Given the description of an element on the screen output the (x, y) to click on. 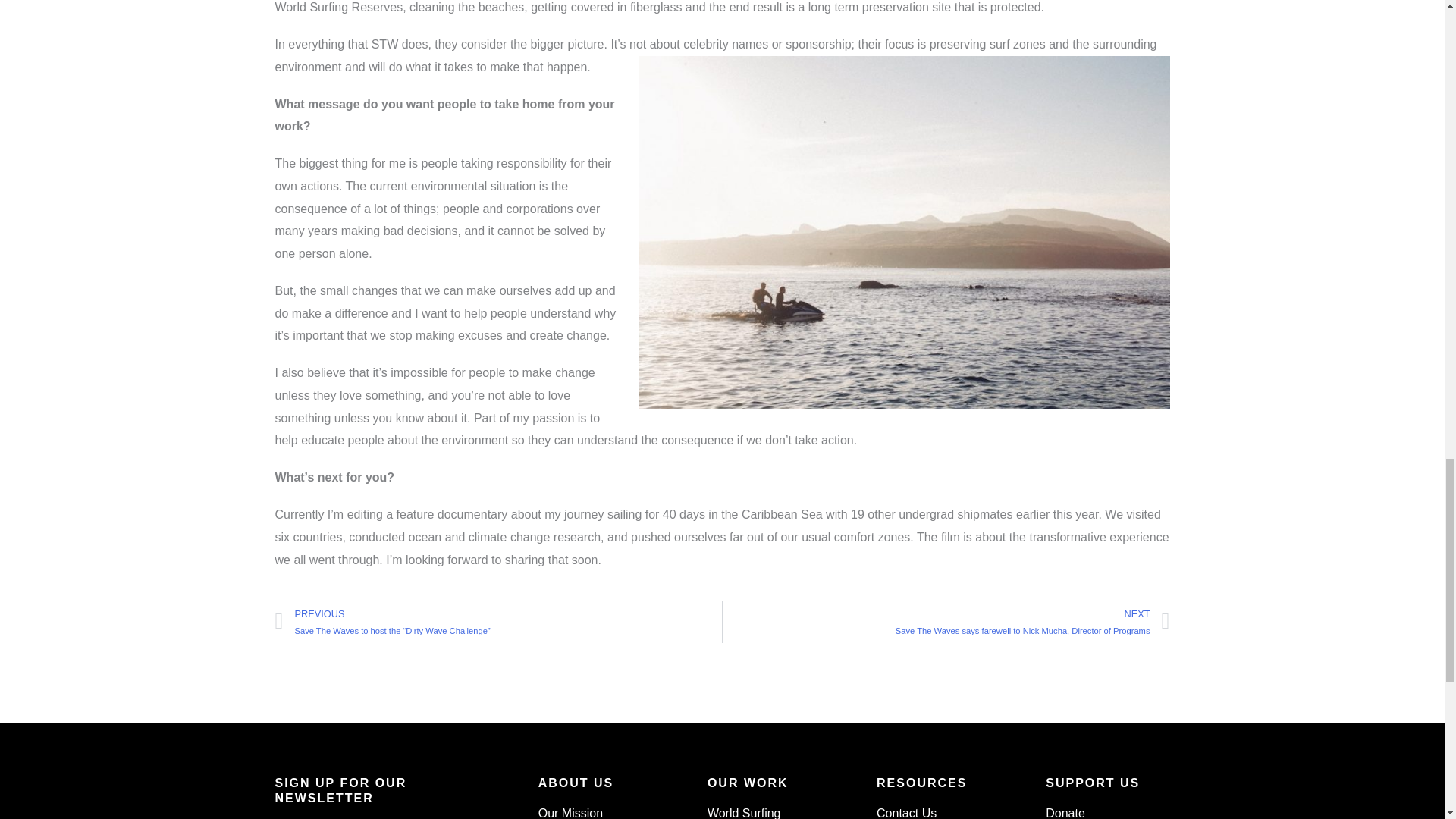
ABOUT US (576, 782)
OUR WORK (748, 782)
Our Mission (600, 812)
